Given the description of an element on the screen output the (x, y) to click on. 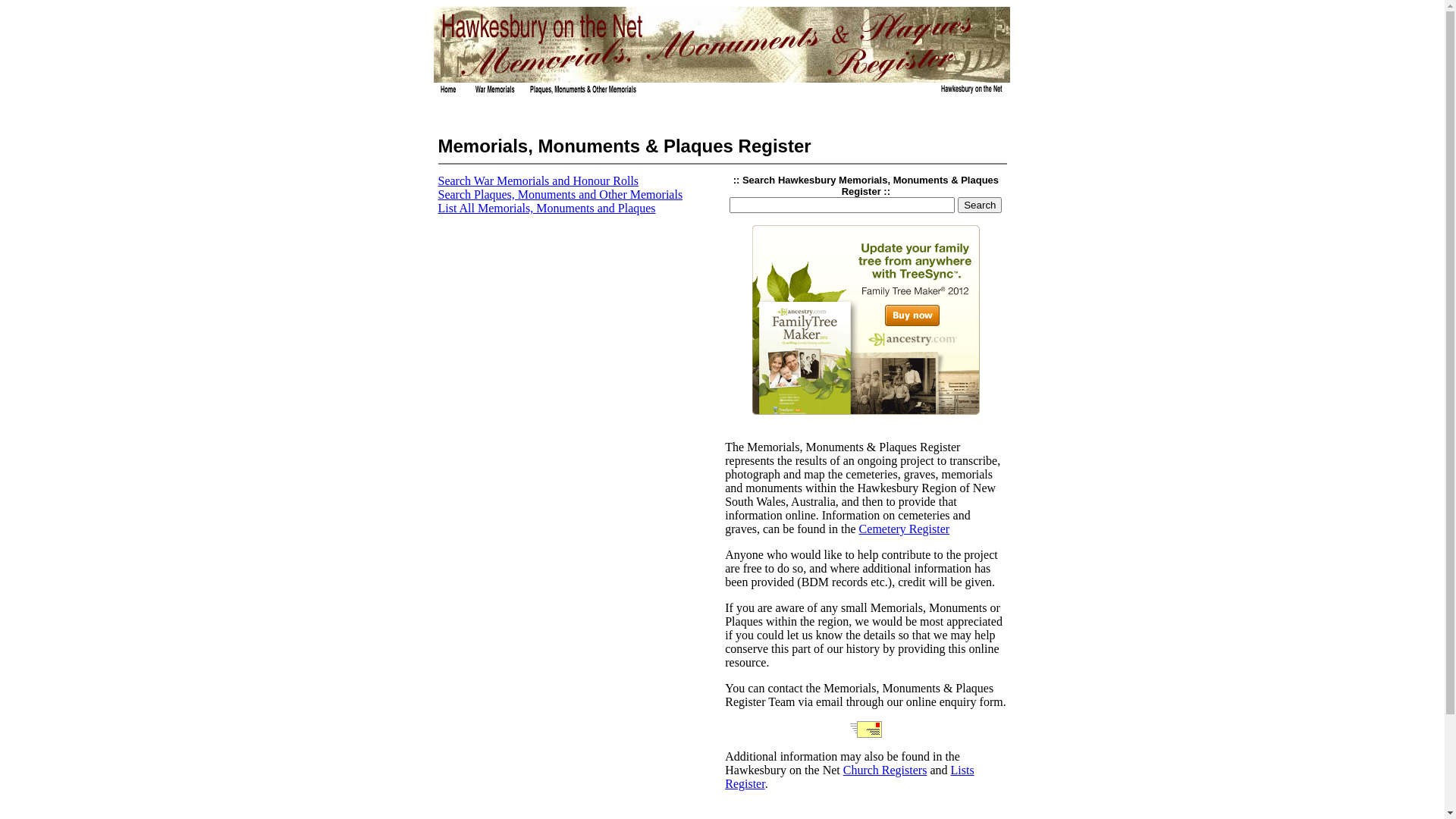
Search Element type: text (979, 205)
Church Registers Element type: text (885, 769)
Search War Memorials and Honour Rolls Element type: text (538, 180)
Lists Register Element type: text (848, 776)
Search Plaques, Monuments and Other Memorials Element type: text (560, 194)
Cemetery Register Element type: text (904, 528)
List All Memorials, Monuments and Plaques Element type: text (546, 207)
